Given the description of an element on the screen output the (x, y) to click on. 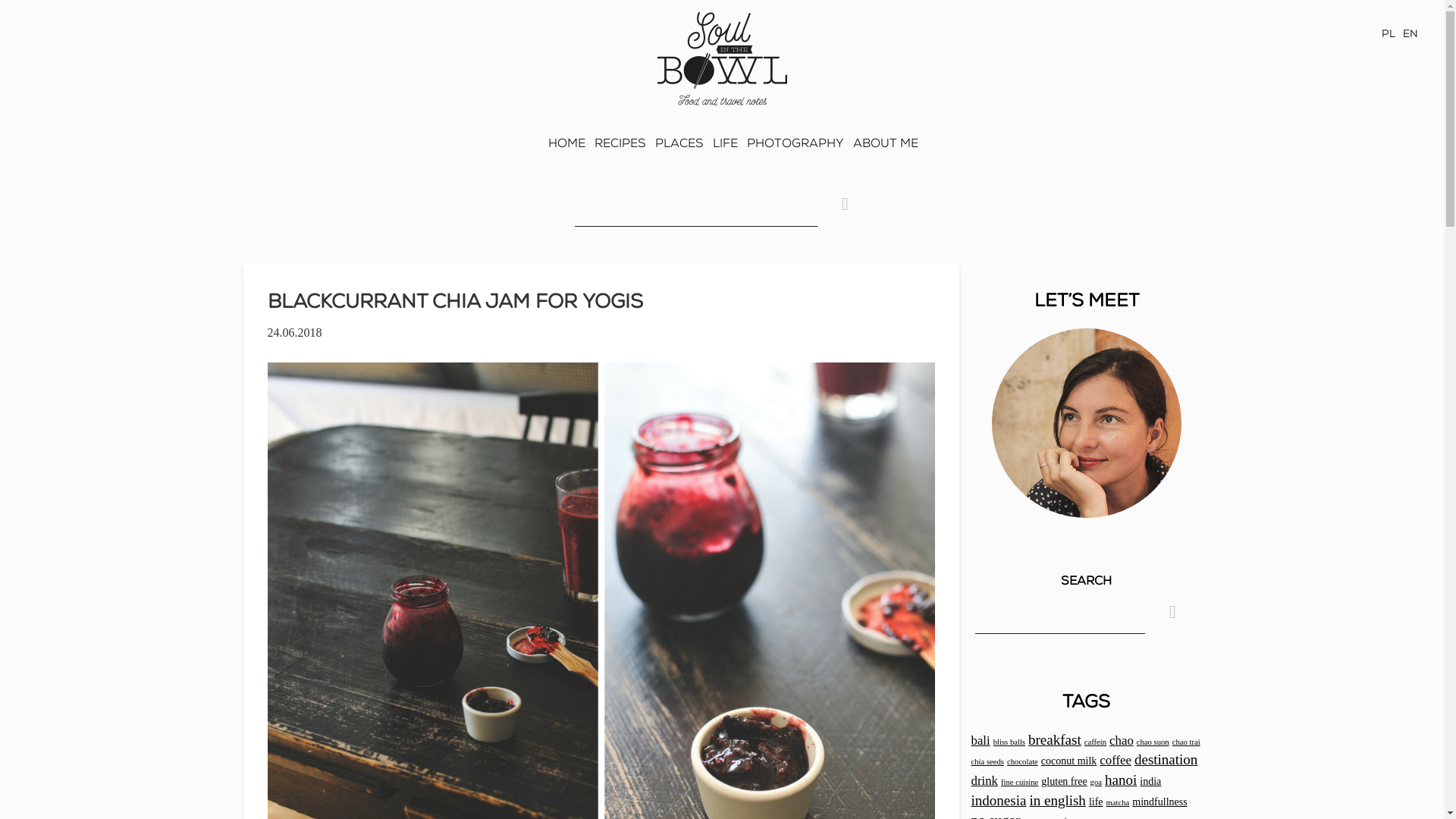
caffein (1095, 741)
chao trai (1185, 741)
Life (720, 151)
breakfast (1054, 739)
chao (1121, 740)
chia seeds (987, 761)
bliss balls (1008, 741)
Photography (789, 151)
Places (674, 151)
EN (1410, 33)
bali (980, 740)
About me (880, 151)
PL (1388, 33)
chao suon (1153, 741)
Home (561, 151)
